Given the description of an element on the screen output the (x, y) to click on. 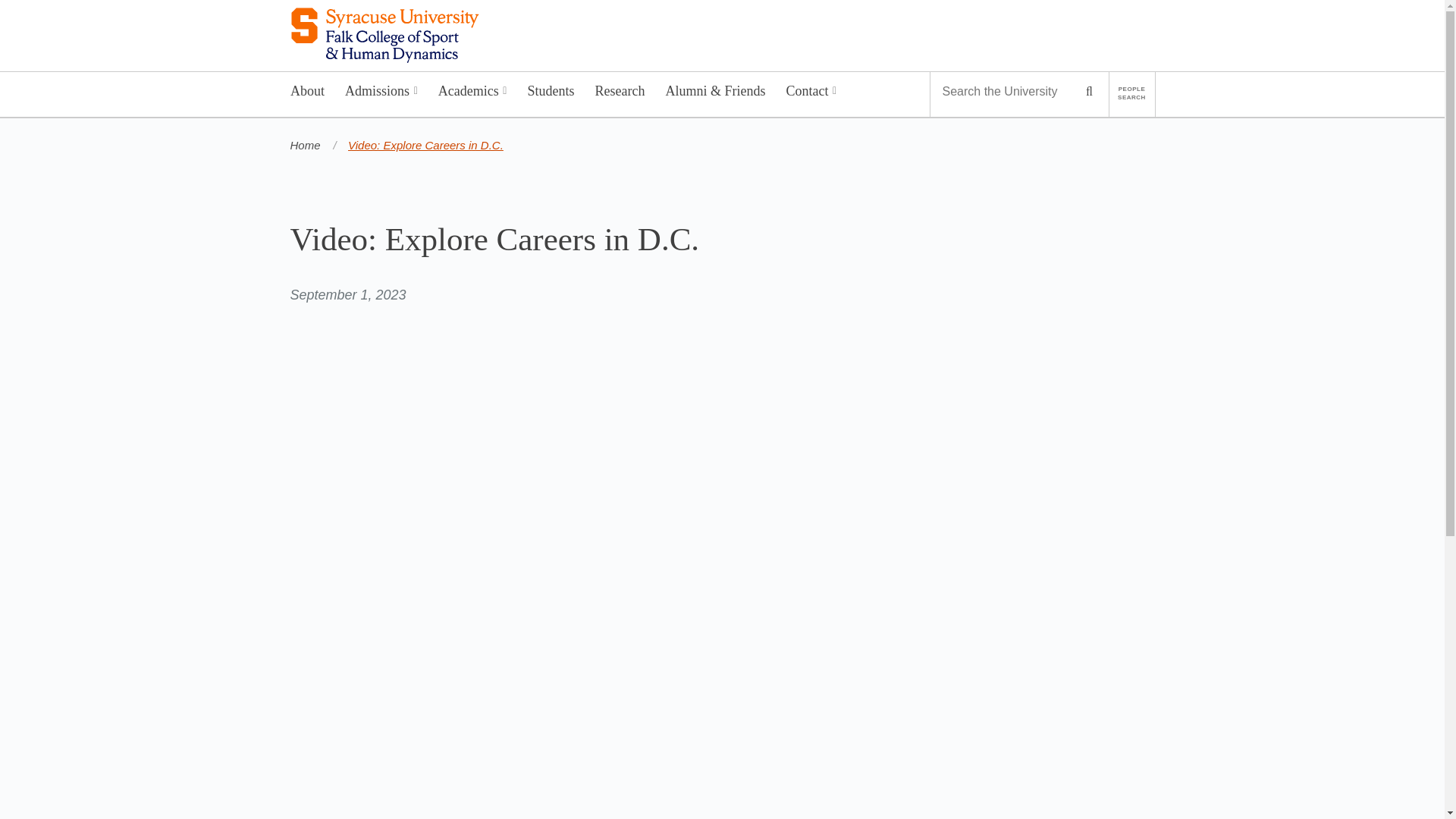
PEOPLE SEARCH (1131, 94)
About (307, 94)
Contact (811, 94)
Admissions (381, 94)
Academics (472, 94)
Students (550, 94)
Home (304, 144)
Research (620, 94)
